Given the description of an element on the screen output the (x, y) to click on. 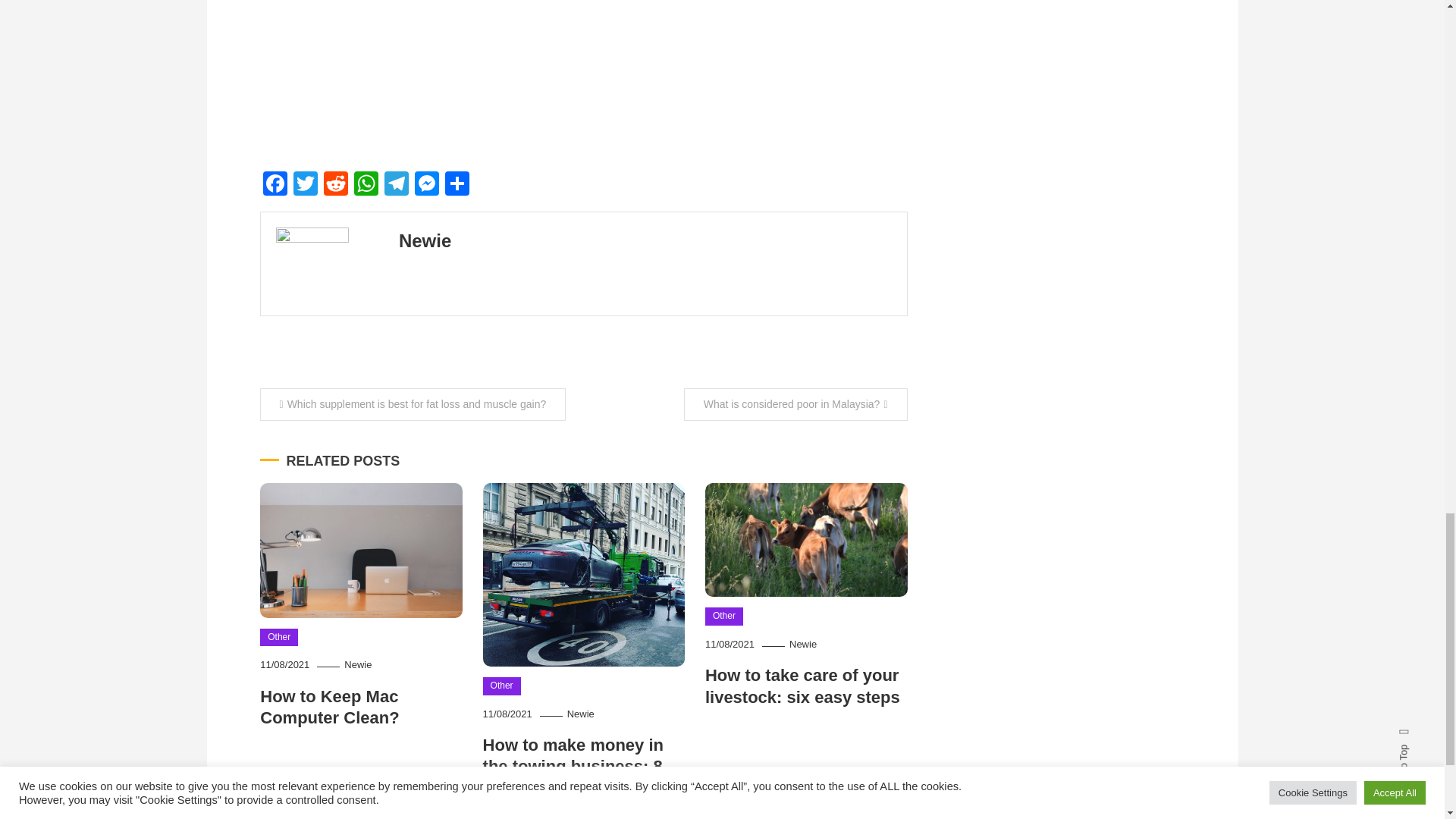
Other (279, 637)
Facebook (274, 185)
Newie (424, 240)
Newie (357, 664)
Newie (802, 644)
Share (456, 185)
Which supplement is best for fat loss and muscle gain? (412, 404)
WhatsApp (365, 185)
Messenger (425, 185)
NOOBS PLAY BRAWL STARS, from the start subscriber request (501, 77)
Twitter (304, 185)
Facebook (274, 185)
Telegram (395, 185)
Reddit (335, 185)
Other (502, 686)
